Given the description of an element on the screen output the (x, y) to click on. 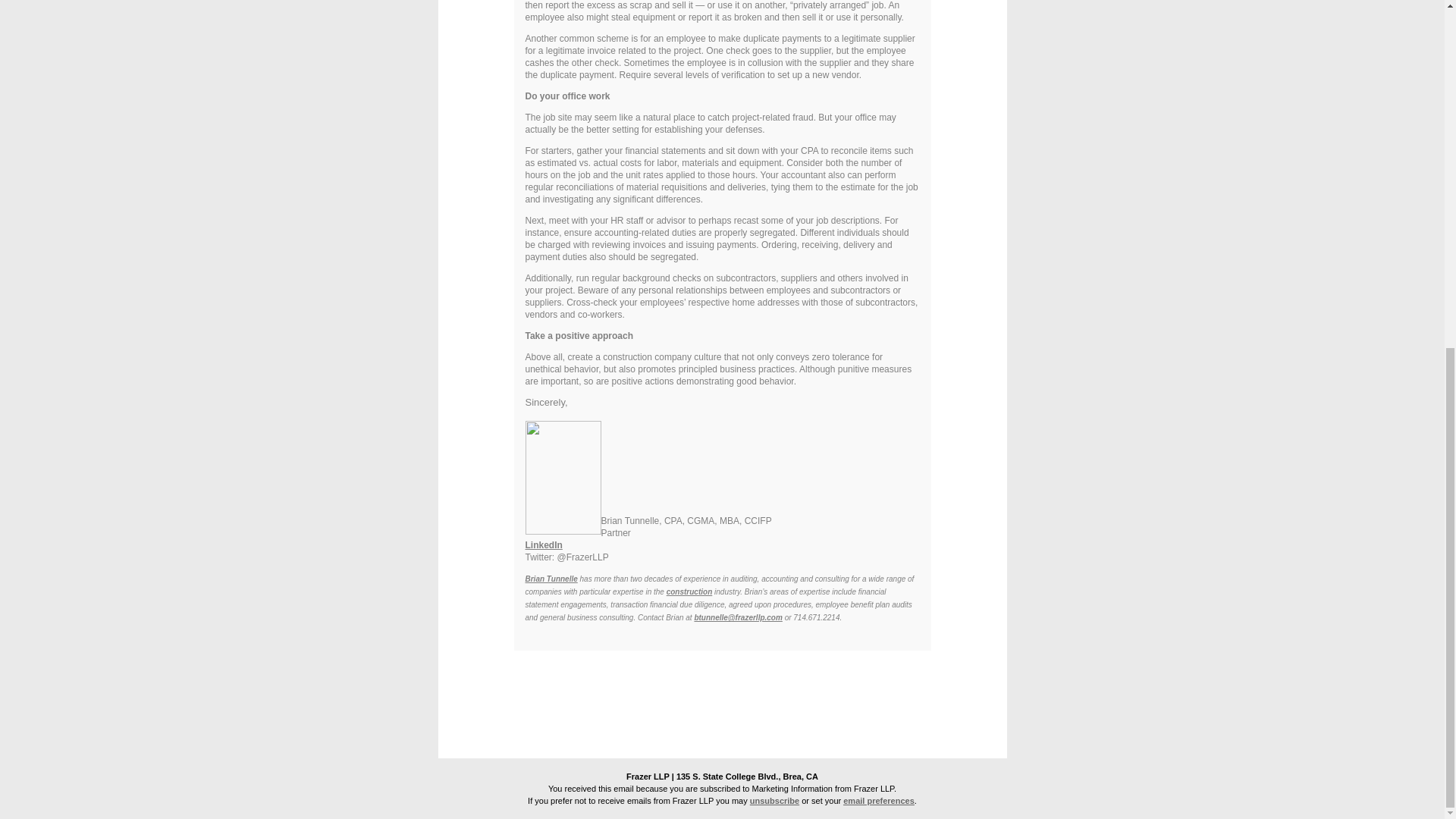
Brian Tunnelle (550, 578)
email preferences (878, 800)
LinkedIn (543, 544)
unsubscribe (774, 800)
construction (689, 592)
